Given the description of an element on the screen output the (x, y) to click on. 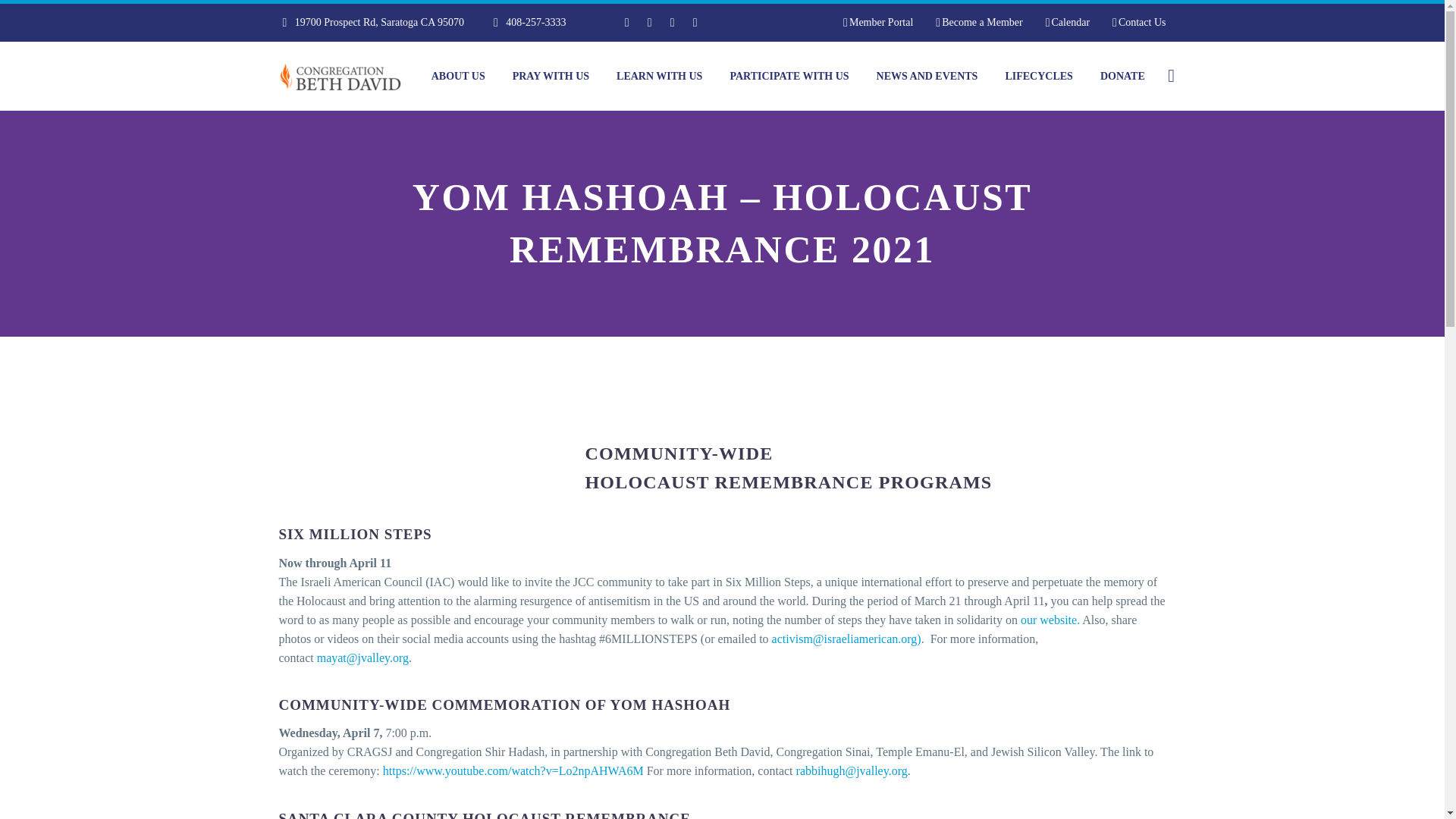
LEARN WITH US (659, 75)
Member Portal (877, 22)
Facebook (627, 22)
Calendar (1067, 22)
amazon (695, 22)
YouTube (672, 22)
Become a Member (979, 22)
Contact Us (1139, 22)
Instagram (650, 22)
PARTICIPATE WITH US (788, 75)
408-257-3333 (535, 21)
ABOUT US (458, 75)
PRAY WITH US (549, 75)
